Given the description of an element on the screen output the (x, y) to click on. 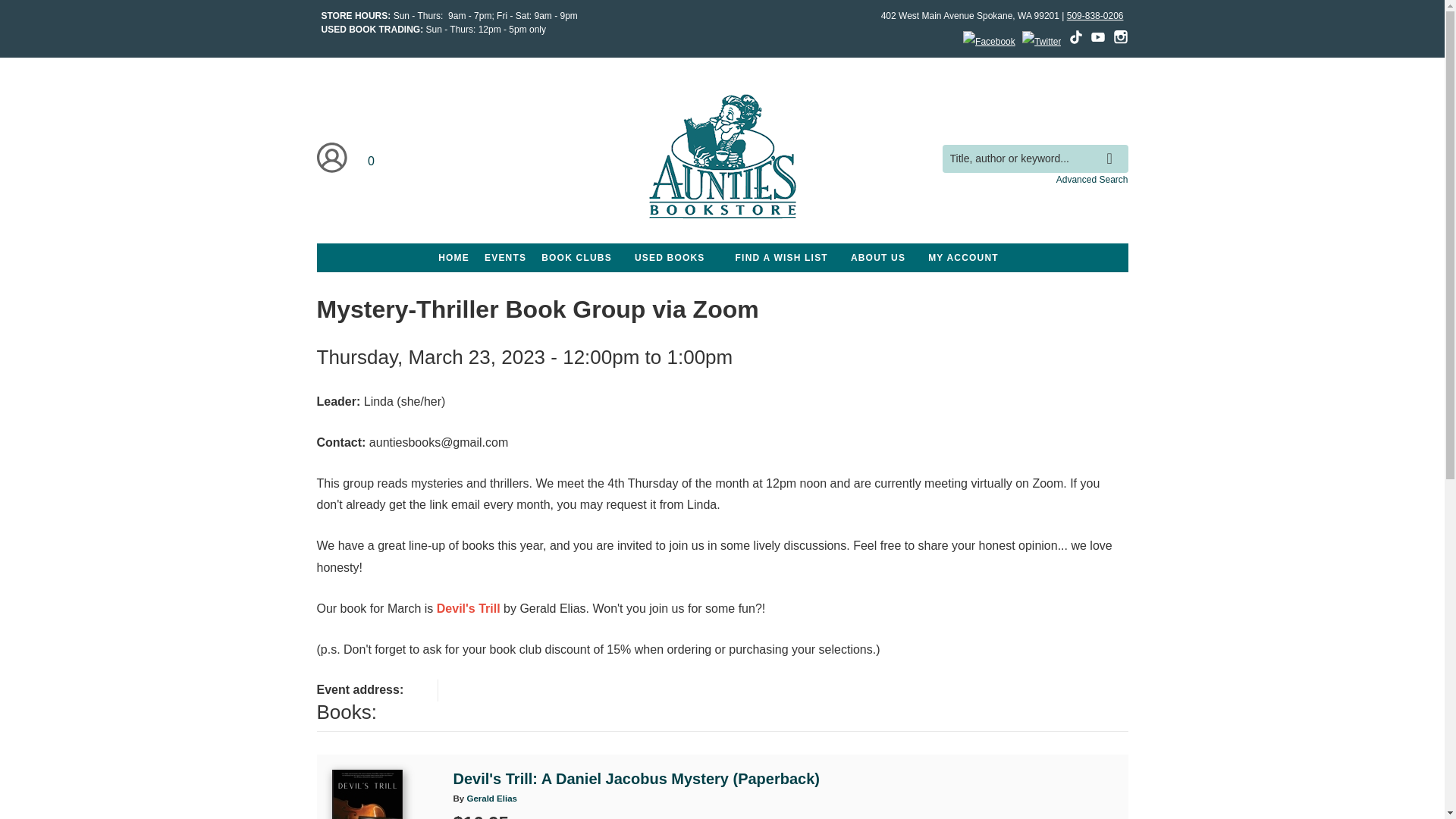
search (1112, 147)
USED BOOKS (670, 257)
EVENTS (505, 257)
Home (721, 158)
FIND A WISH LIST (781, 257)
Events Calendar (505, 257)
search (1112, 147)
Advanced Search (1092, 179)
HOME (453, 257)
Title, author or keyword... (1034, 158)
BOOK CLUBS (577, 257)
Gerald Elias (490, 798)
509-838-0206 (1095, 15)
MY ACCOUNT (962, 257)
ABOUT US (877, 257)
